Given the description of an element on the screen output the (x, y) to click on. 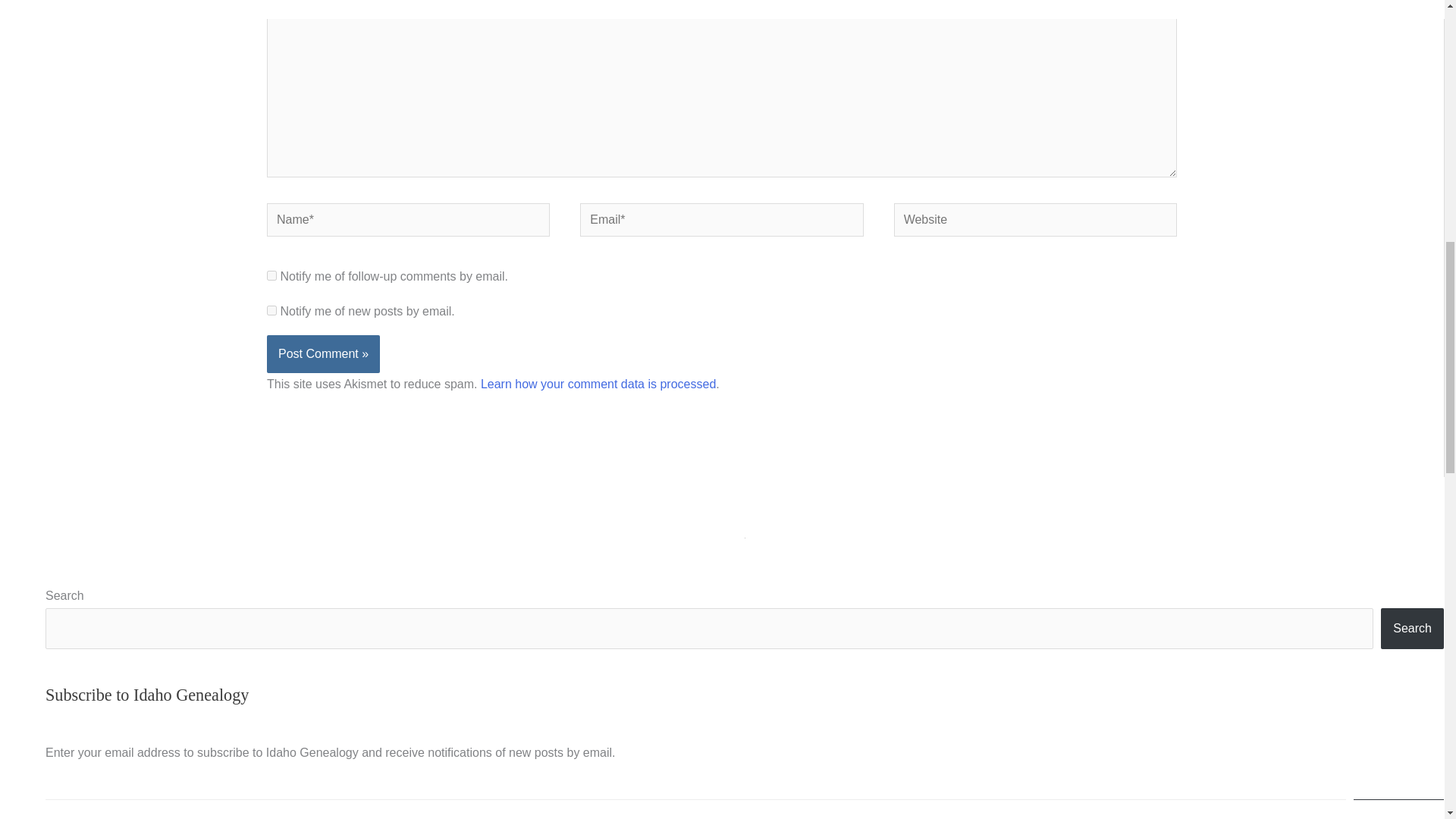
subscribe (271, 310)
subscribe (271, 275)
Learn how your comment data is processed (598, 383)
Subscribe (1399, 809)
Please fill in this field. (695, 809)
Search (1412, 628)
